Given the description of an element on the screen output the (x, y) to click on. 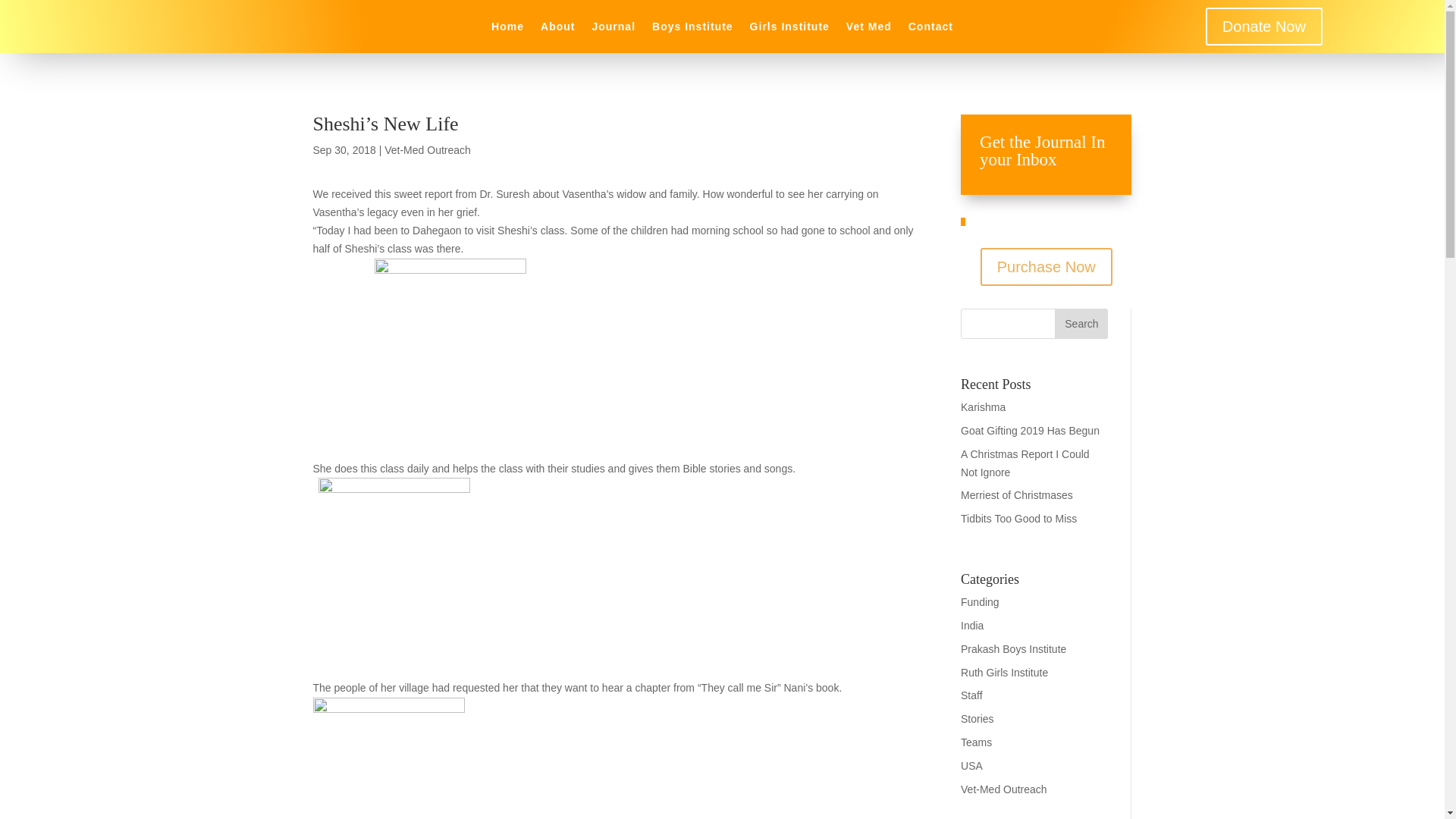
USA (971, 766)
Goat Gifting 2019 Has Begun (1029, 430)
About (557, 29)
Purchase Now (1045, 266)
Donate Now (1263, 26)
India (972, 625)
Boys Institute (692, 29)
Teams (975, 742)
Funding (979, 602)
Karishma (983, 407)
Search (1081, 323)
A Christmas Report I Could Not Ignore (1024, 462)
Journal (612, 29)
Stories (977, 718)
Ruth Girls Institute (1004, 672)
